Given the description of an element on the screen output the (x, y) to click on. 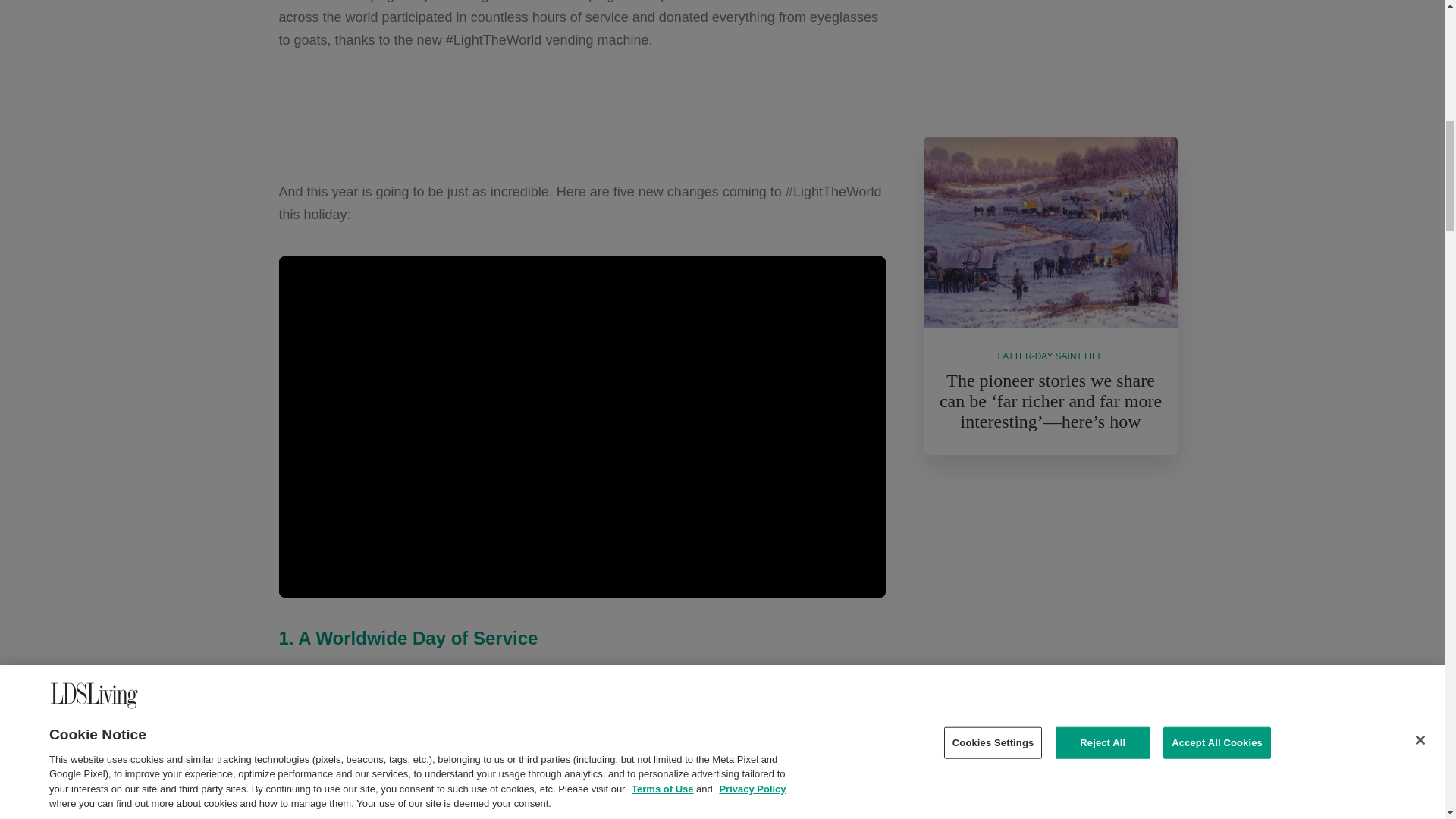
3rd party ad content (582, 115)
3rd party ad content (1050, 53)
